Given the description of an element on the screen output the (x, y) to click on. 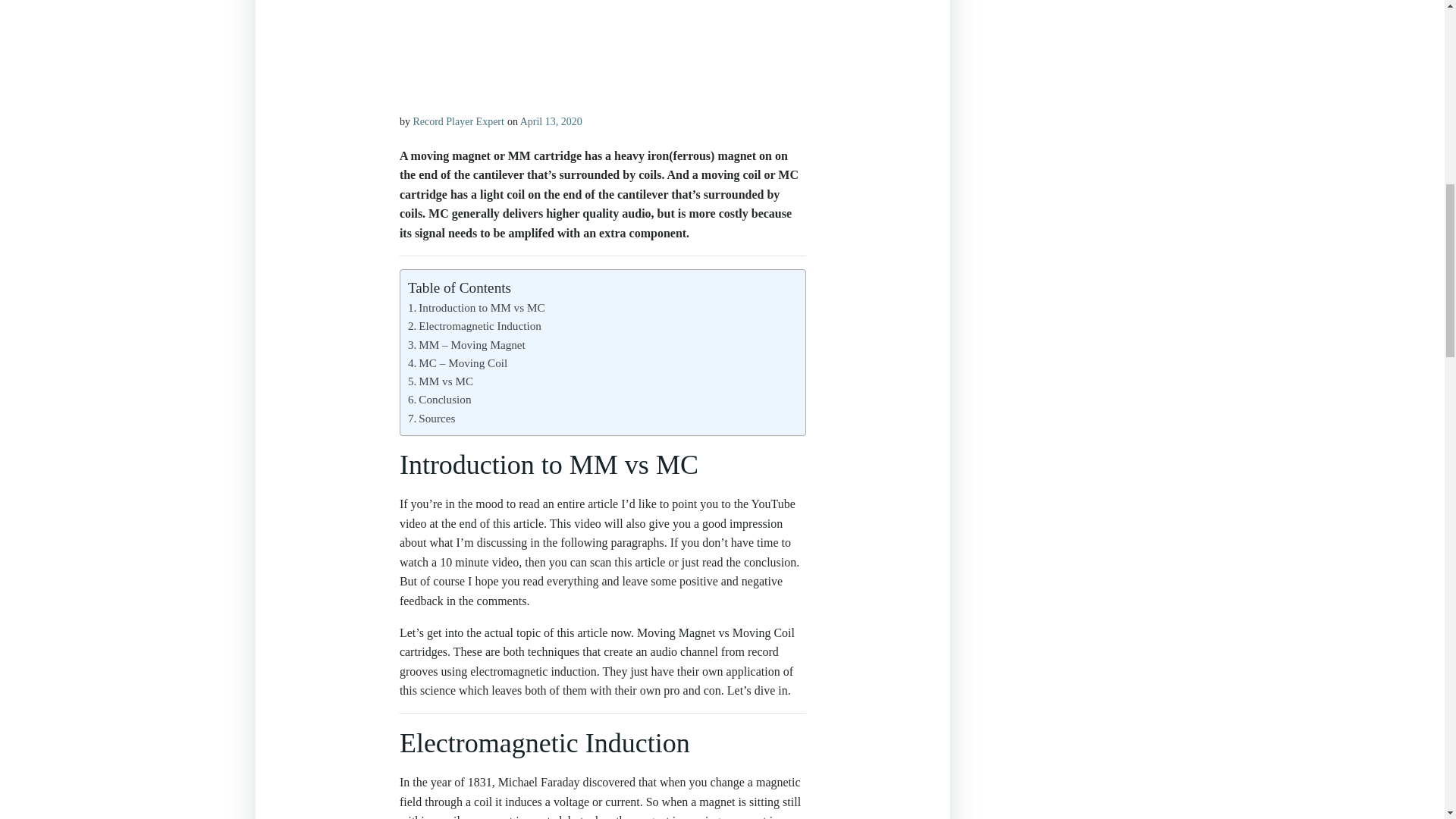
Introduction to MM vs MC (475, 307)
Conclusion (439, 399)
Electromagnetic Induction (474, 325)
Electromagnetic Induction (474, 325)
MM vs MC (440, 381)
Introduction to MM vs MC (475, 307)
Sources (431, 418)
Sources (431, 418)
MM vs MC (440, 381)
April 13, 2020 (550, 121)
